Given the description of an element on the screen output the (x, y) to click on. 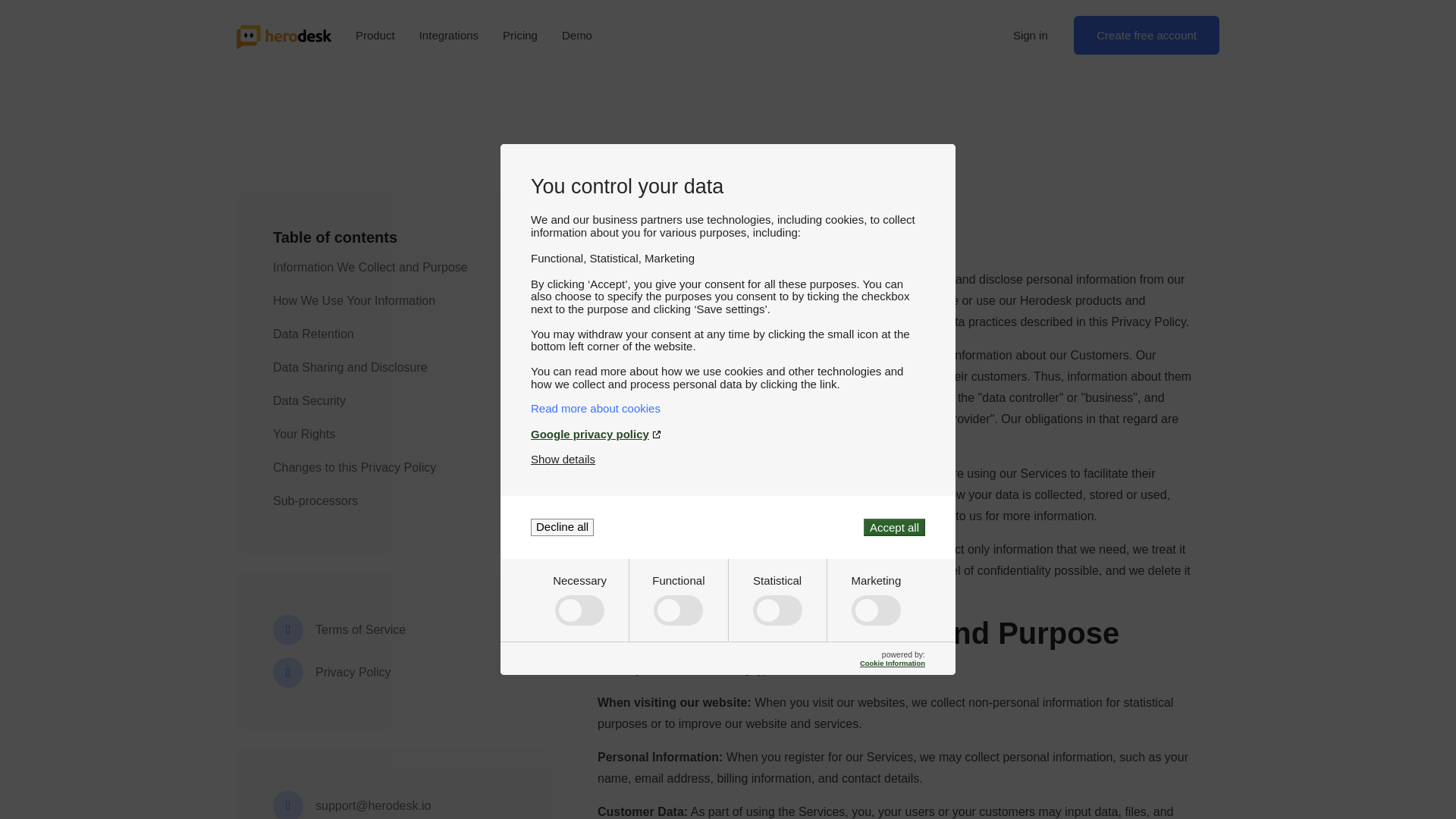
Decline all (562, 527)
Google privacy policy (727, 433)
Show details (563, 459)
Read more about cookies (727, 408)
